Given the description of an element on the screen output the (x, y) to click on. 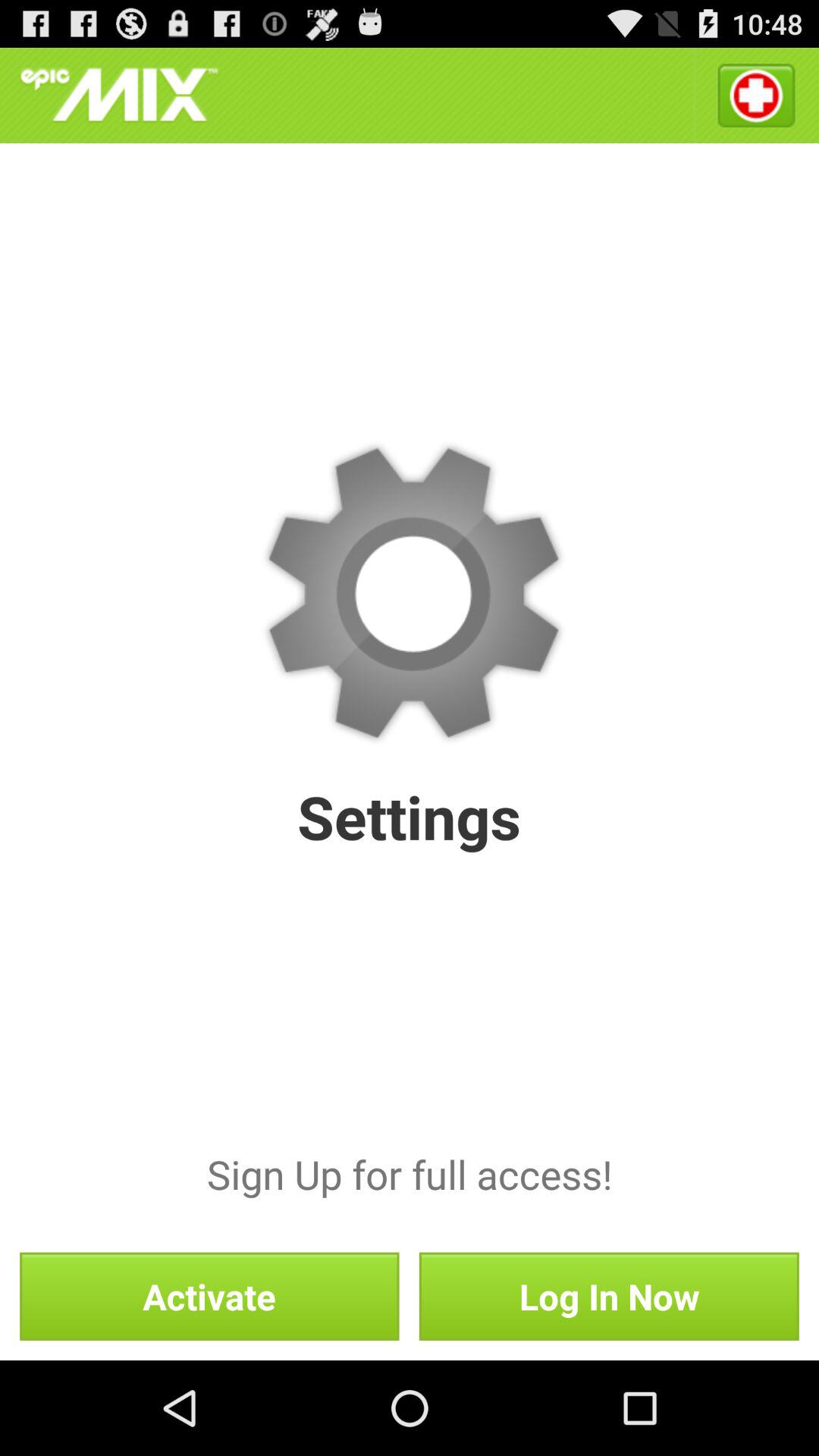
launch the item below sign up for item (609, 1296)
